Given the description of an element on the screen output the (x, y) to click on. 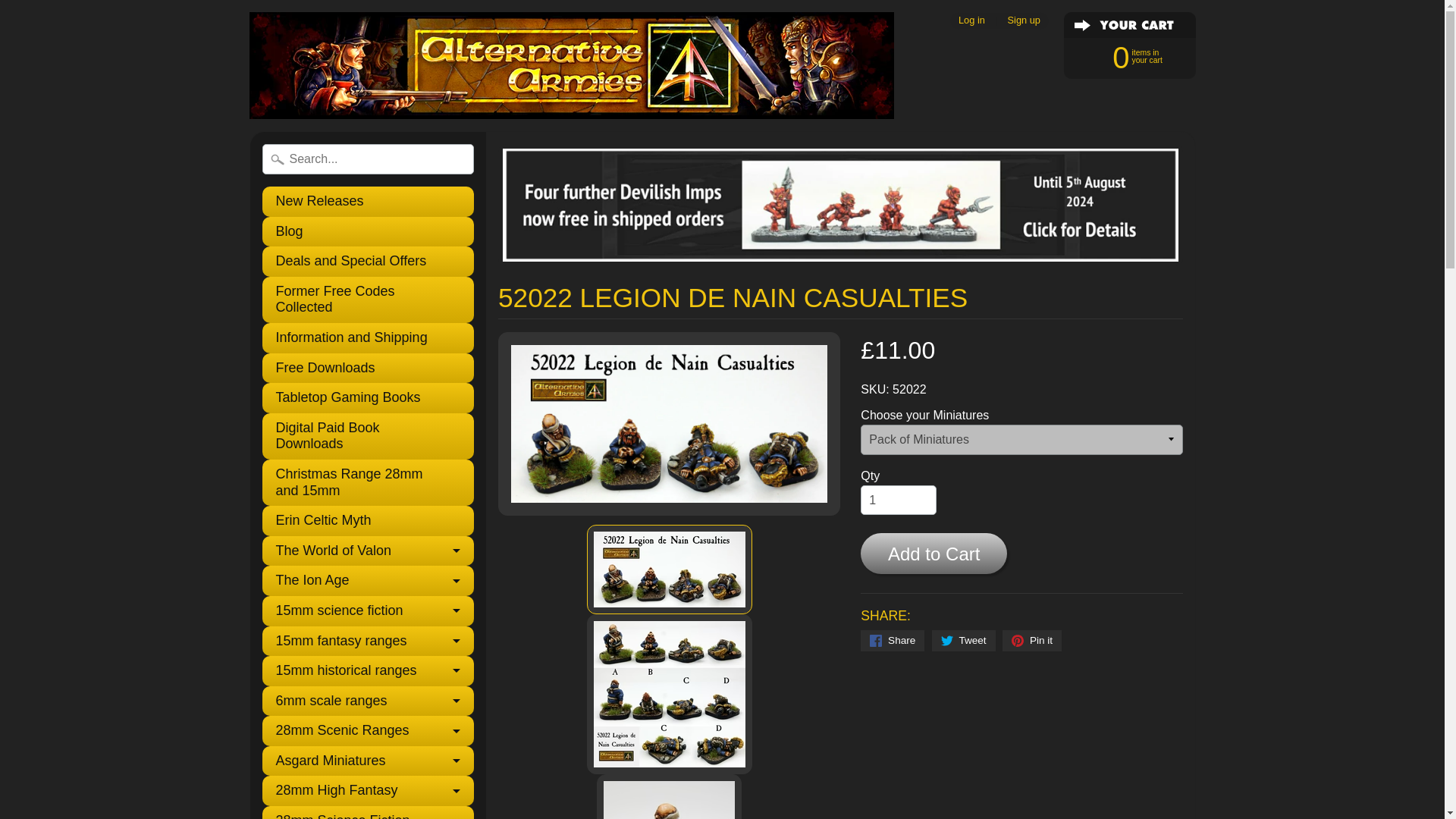
52022 Legion de Nain Casualties (669, 569)
Log in (970, 20)
Tabletop Gaming Books (368, 398)
Former Free Codes Collected (368, 299)
Digital Paid Book Downloads (368, 436)
Tweet on Twitter (963, 640)
Share on Facebook (892, 640)
Free Downloads (368, 368)
Blog (368, 232)
New Releases (368, 201)
